Given the description of an element on the screen output the (x, y) to click on. 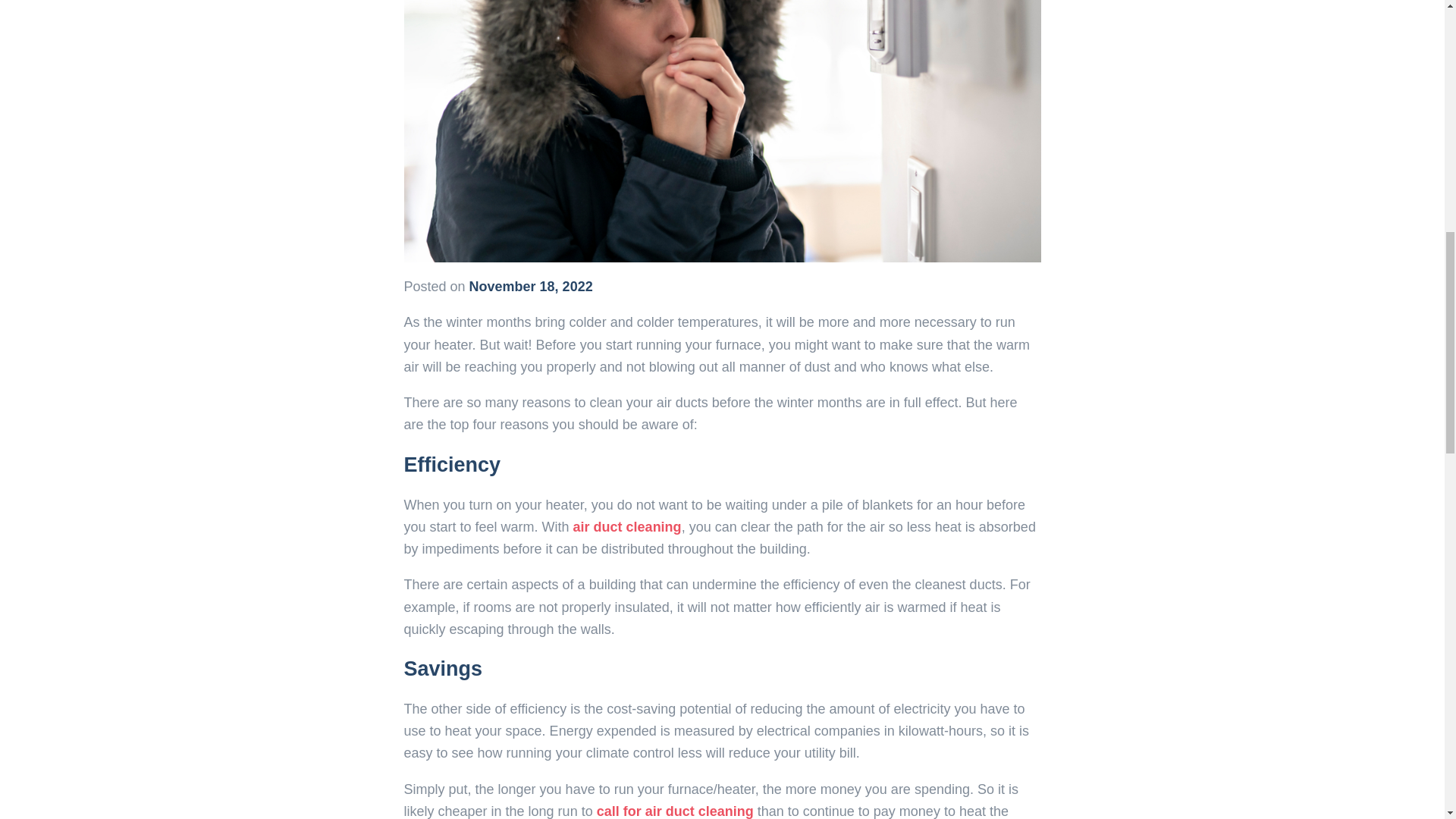
call for air duct cleaning (675, 811)
air duct cleaning (627, 526)
